Given the description of an element on the screen output the (x, y) to click on. 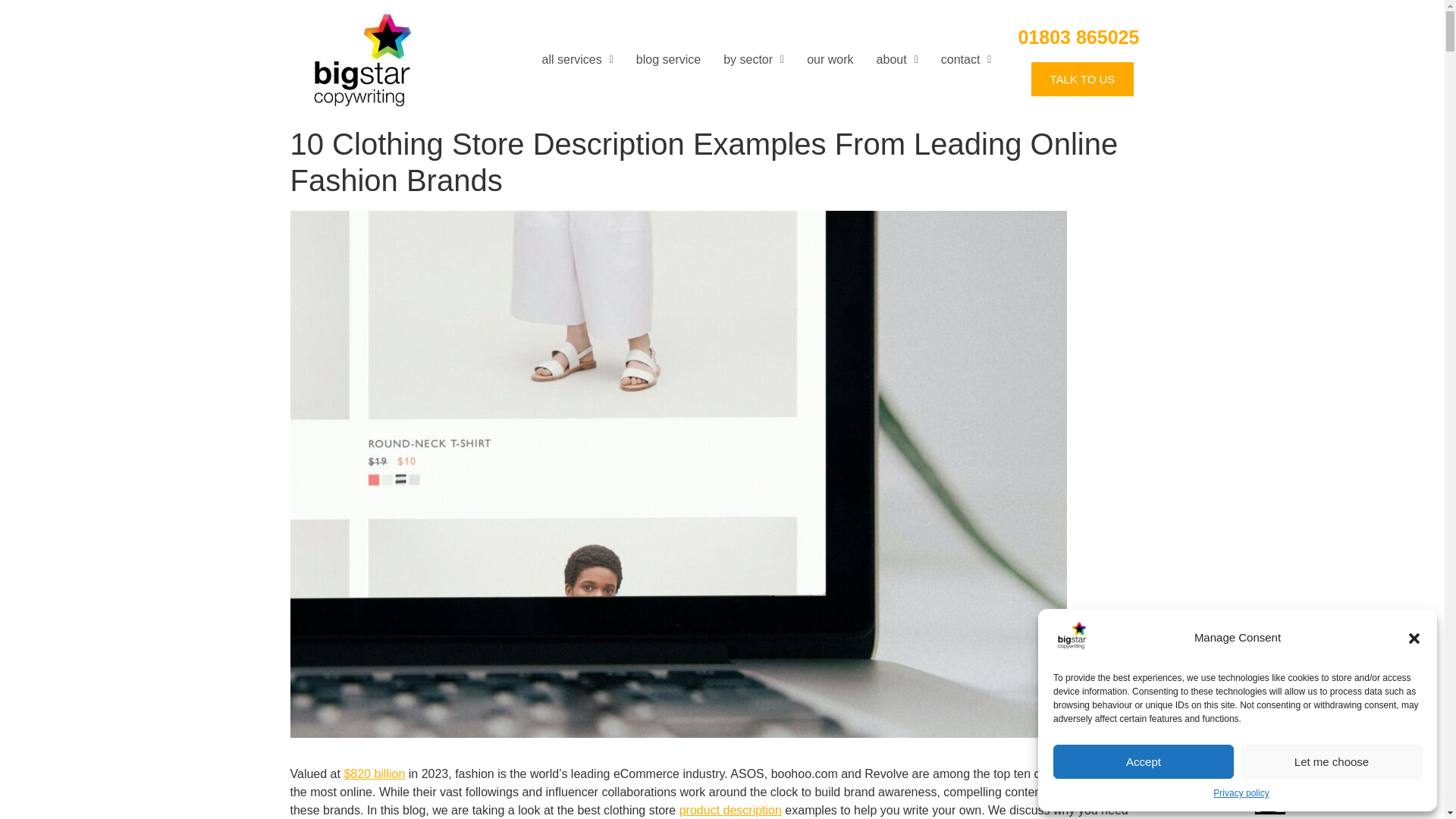
all services (577, 59)
about (897, 59)
RSS (1270, 697)
Facebook (1270, 766)
our work (829, 59)
Accept (1142, 761)
Privacy policy (1240, 793)
Follow by Email (1270, 731)
blog service (667, 59)
by sector (752, 59)
